Given the description of an element on the screen output the (x, y) to click on. 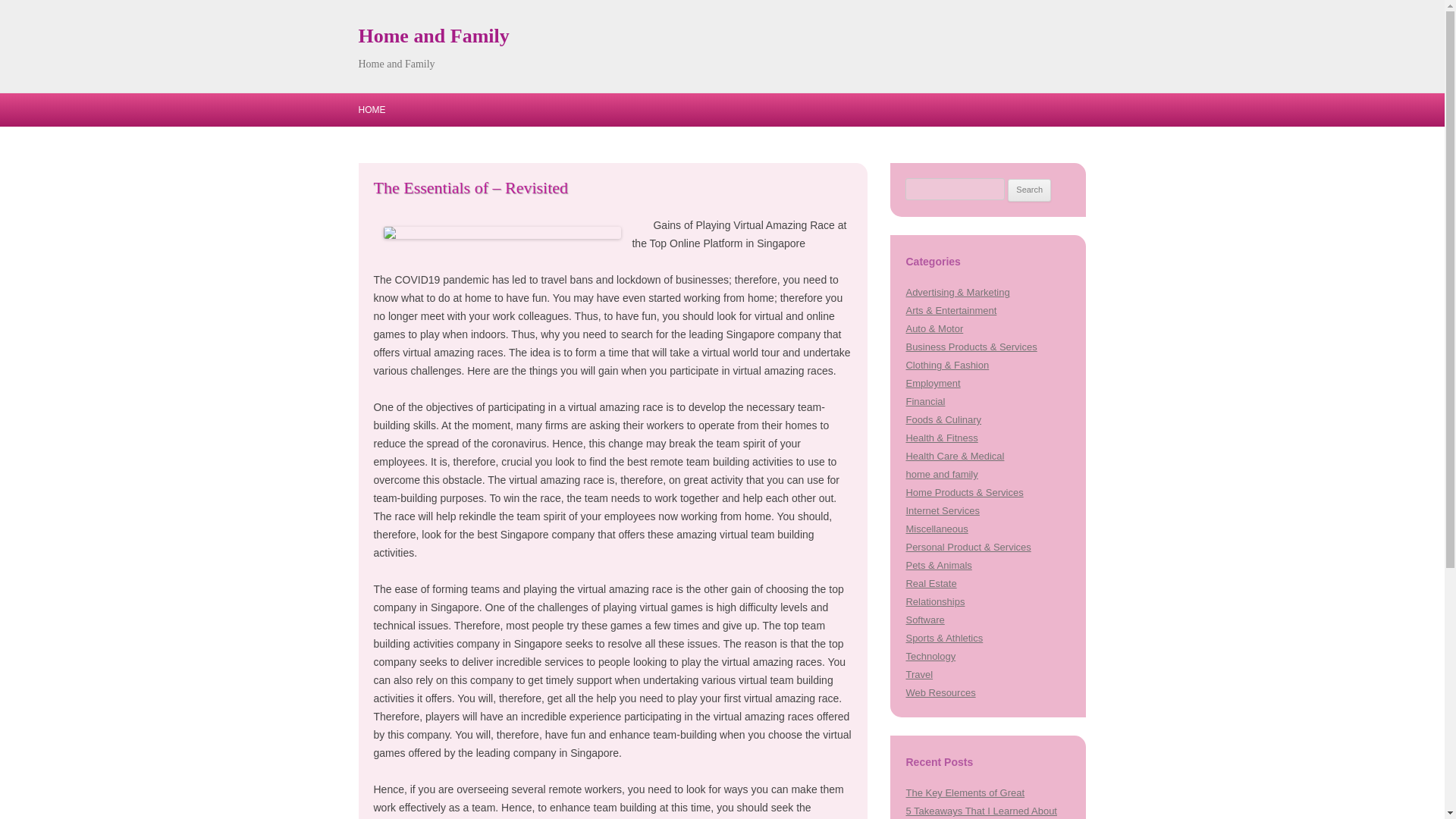
Internet Services (941, 510)
Web Resources (940, 692)
home and family (940, 473)
The Key Elements of Great (965, 792)
Software (924, 619)
Financial (924, 401)
Home and Family (433, 36)
Relationships (934, 601)
Travel (919, 674)
